Given the description of an element on the screen output the (x, y) to click on. 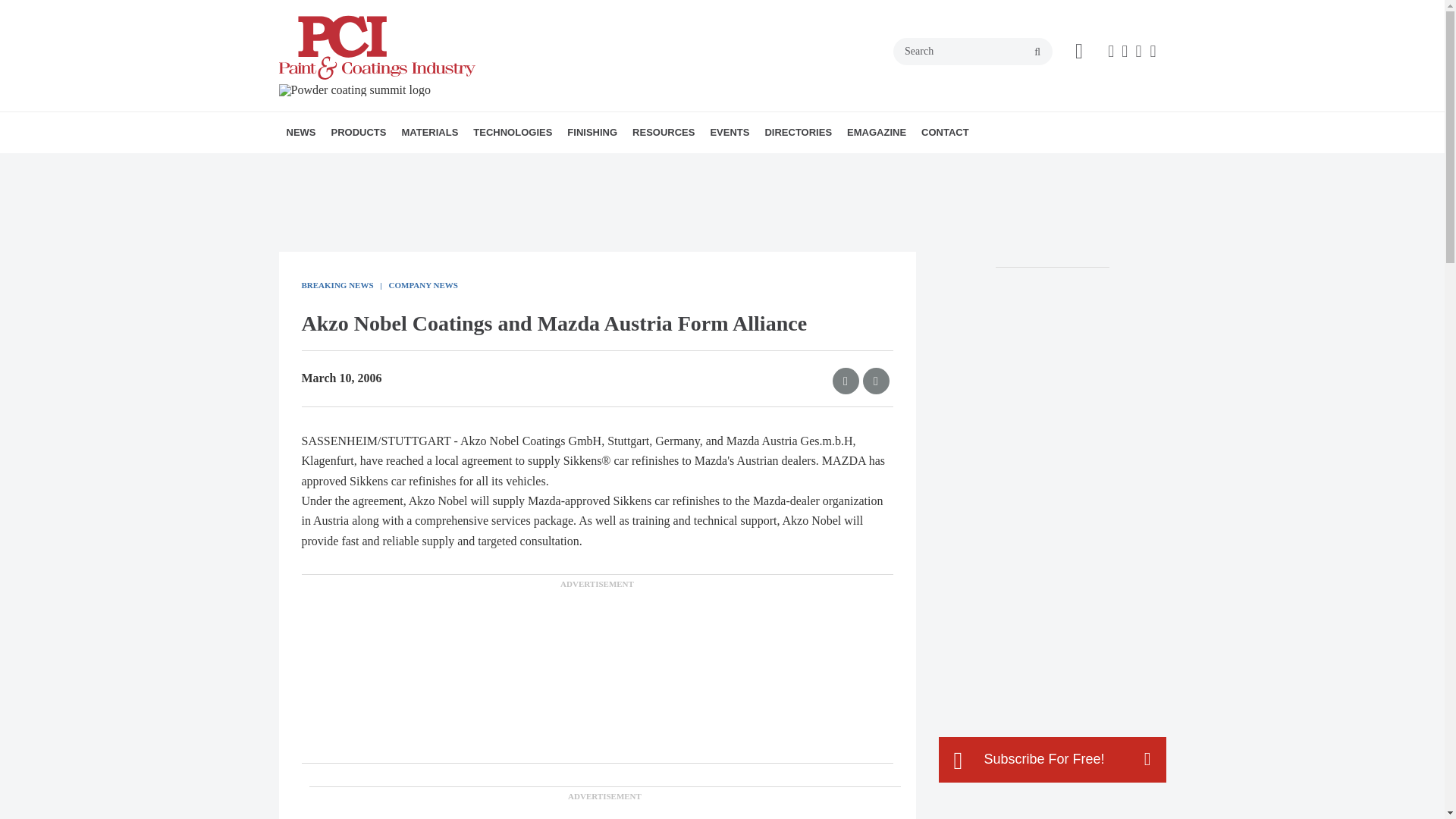
SUBSCRIBE TO ENEWSLETTERS (391, 165)
Search (972, 51)
POWDER COATINGS (583, 165)
DISTRIBUTORS (512, 165)
INDUSTRIAL COATINGS (573, 165)
SOLVENTBORNE (587, 165)
FEATURED PRODUCTS (424, 165)
ADDITIVES (488, 165)
MATERIALS (429, 132)
NANOTECHNOLOGY (579, 165)
TECHNOLOGIES (512, 132)
search (1037, 51)
LATEST NEWS (373, 165)
PRODUCTS (358, 132)
Search (972, 51)
